Given the description of an element on the screen output the (x, y) to click on. 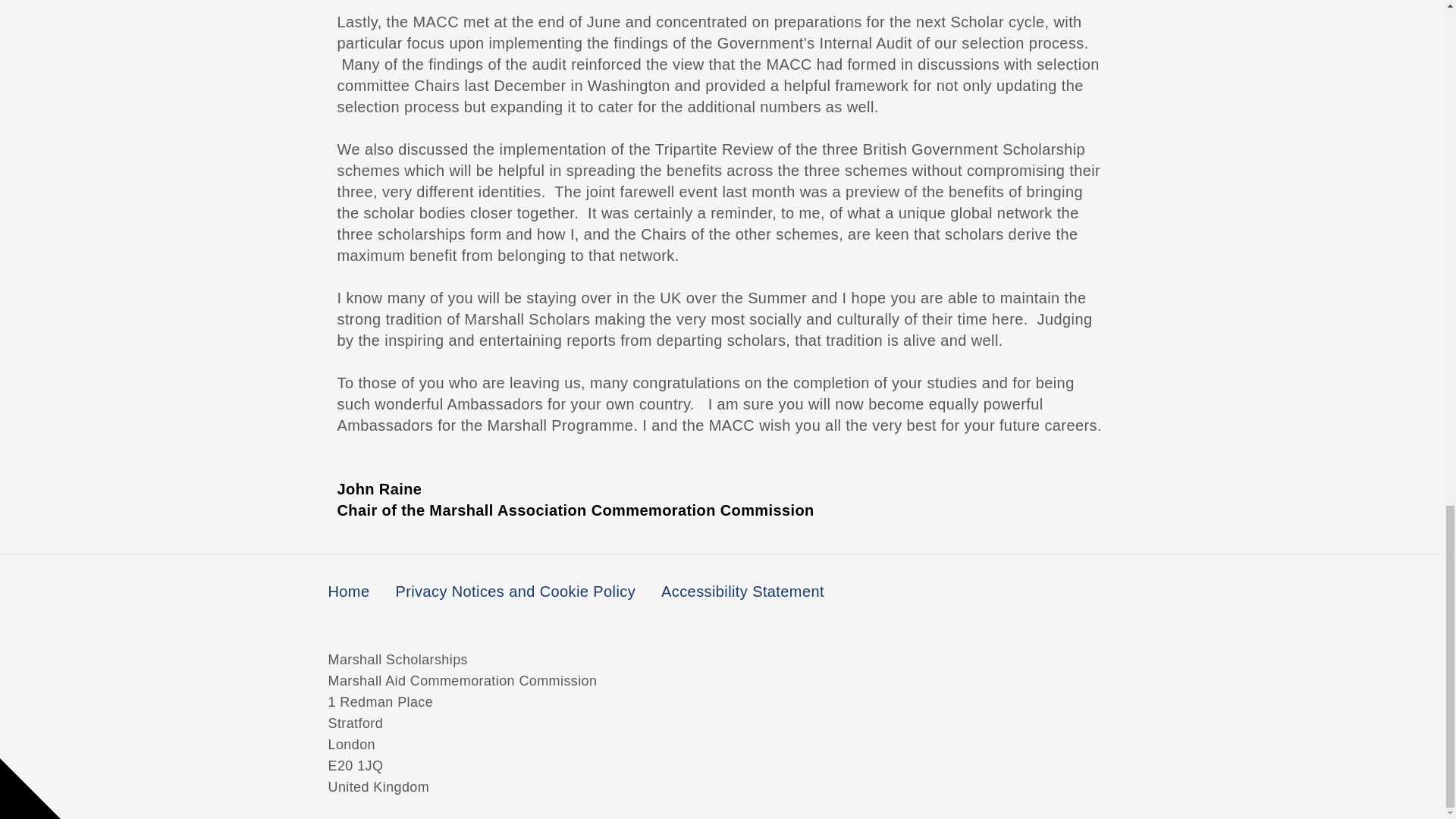
Twitter (978, 591)
Linkedin (1090, 591)
Instagram (1034, 591)
